Given the description of an element on the screen output the (x, y) to click on. 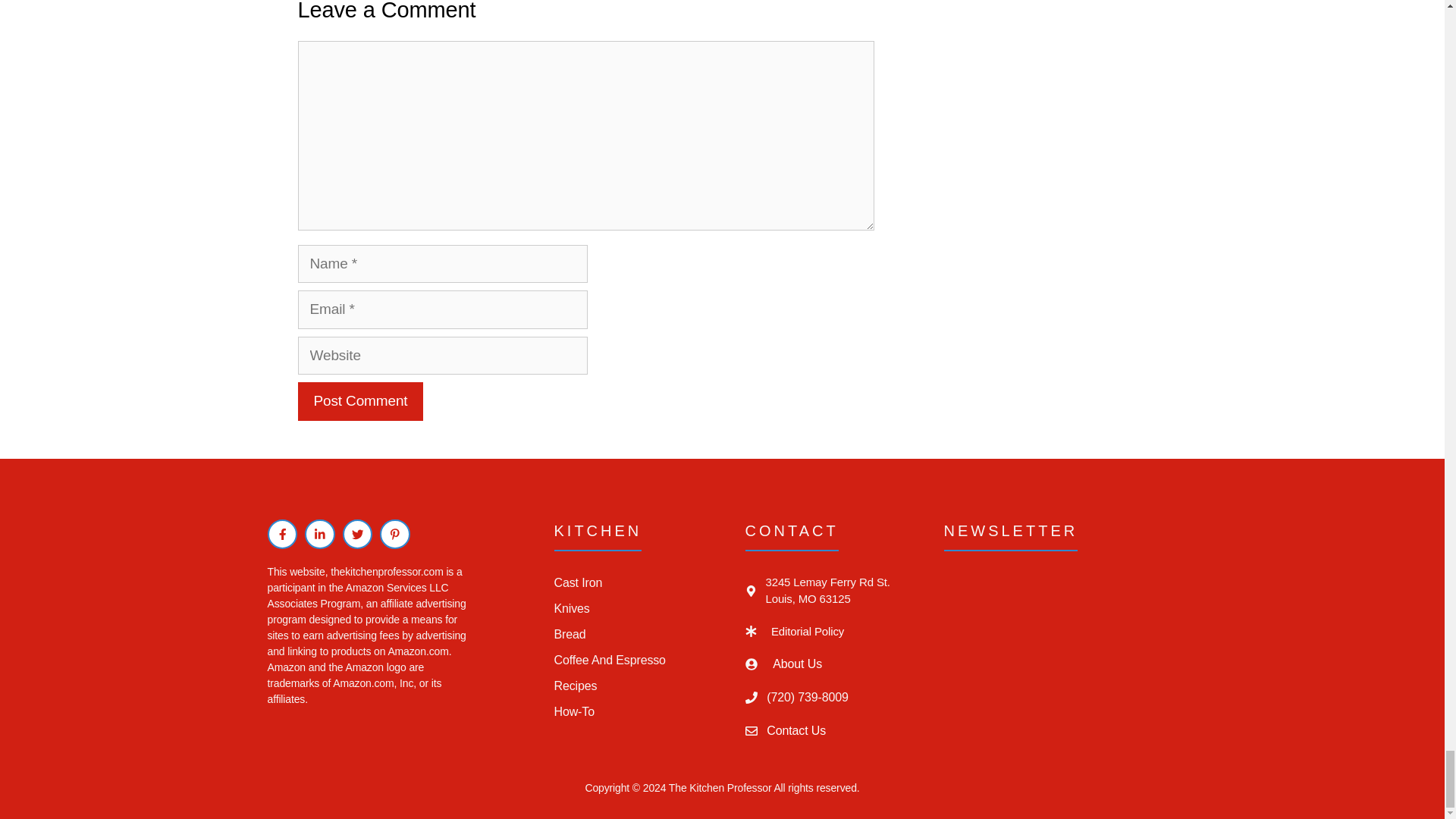
Post Comment (360, 401)
